Given the description of an element on the screen output the (x, y) to click on. 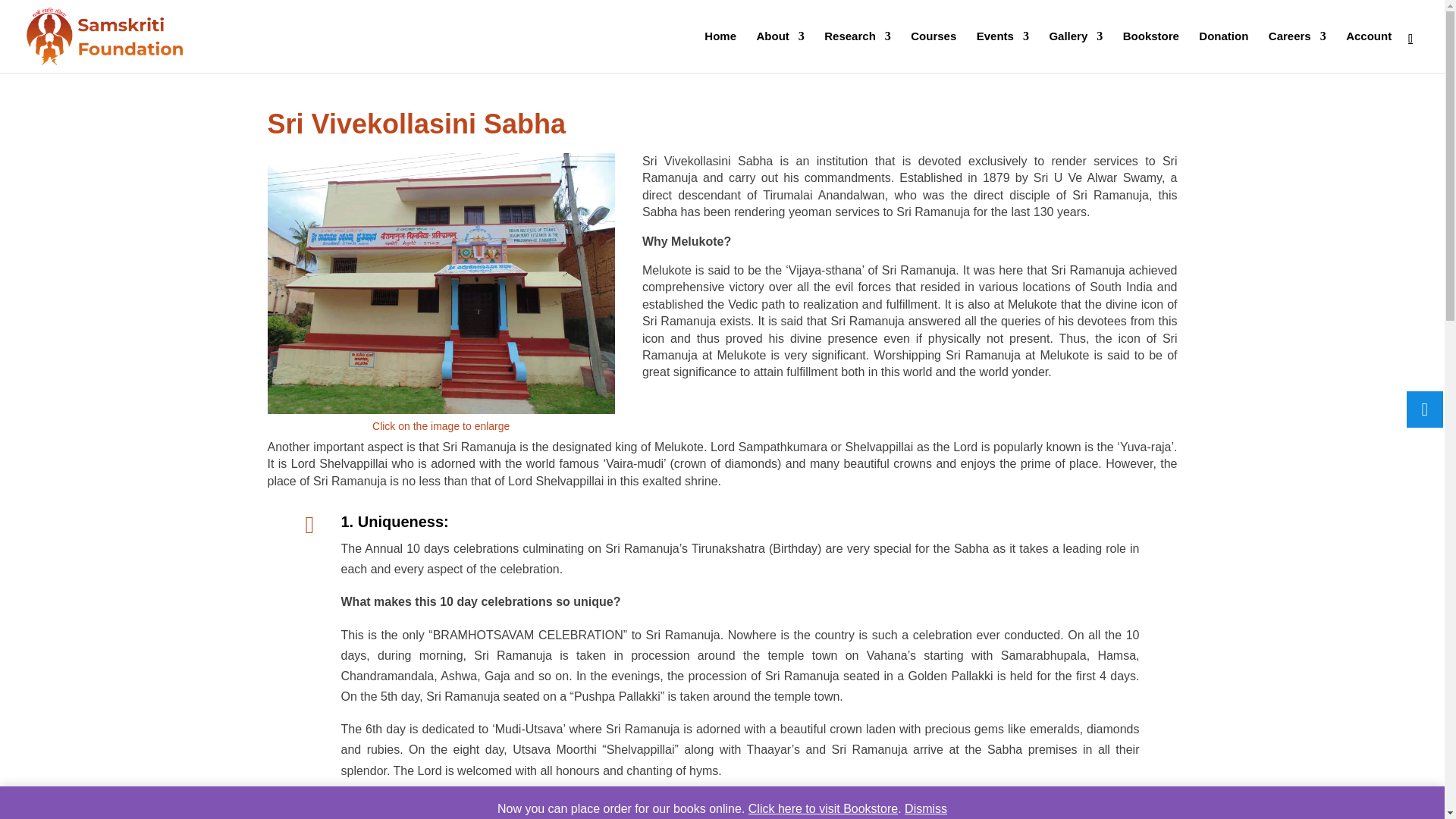
Home (720, 51)
Courses (933, 51)
Bookstore (1150, 51)
Melkote Office (440, 283)
Gallery (1075, 51)
Careers (1297, 51)
Events (1002, 51)
Research (857, 51)
Donation (1222, 51)
Account (1368, 51)
About (779, 51)
